Given the description of an element on the screen output the (x, y) to click on. 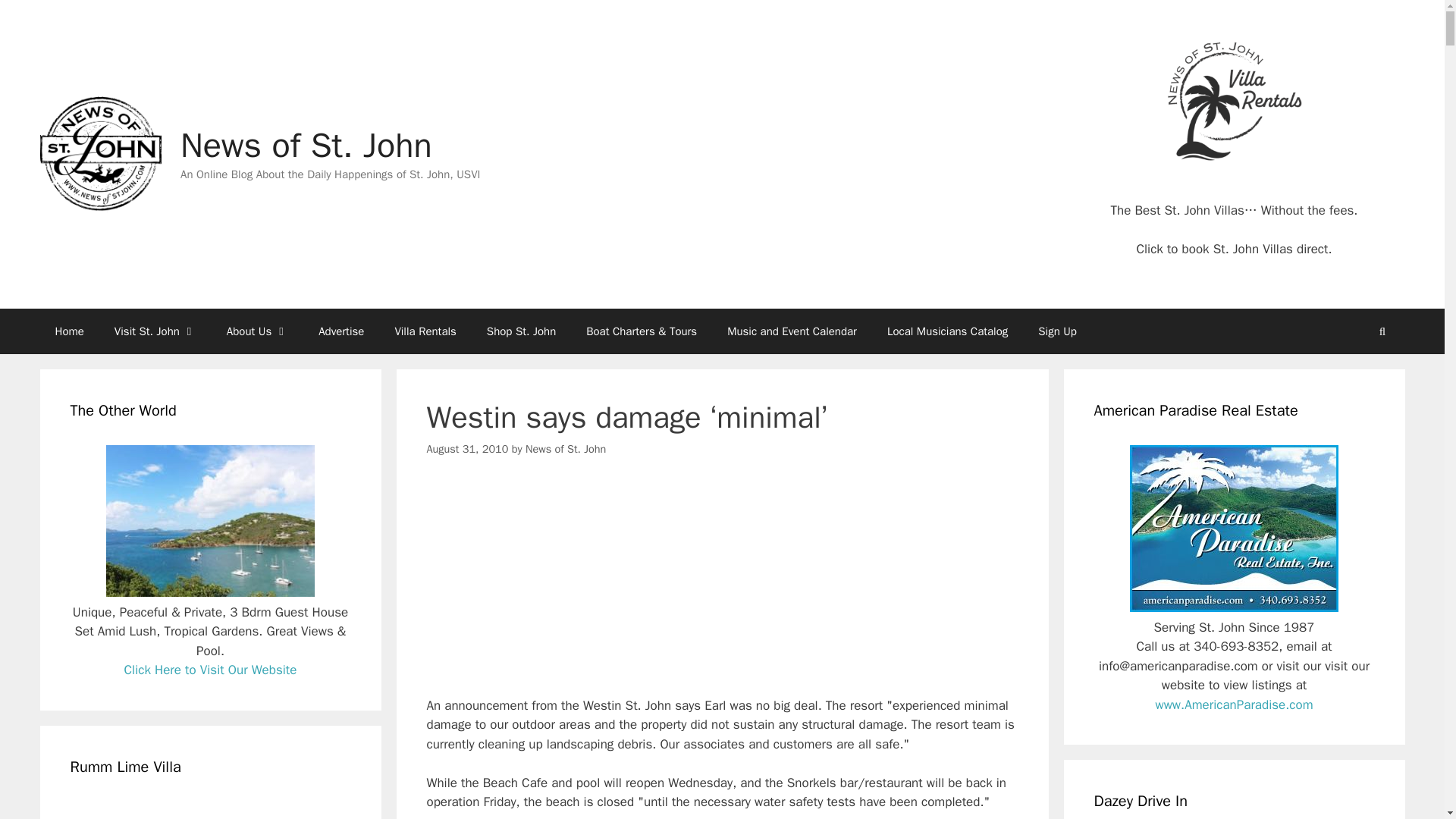
1:17 pm (467, 448)
About Us (256, 330)
Home (69, 330)
Shop St. John (520, 330)
Local Musicians Catalog (947, 330)
August 31, 2010 (467, 448)
News of St. John (306, 145)
Villa Rentals (424, 330)
Advertisement (721, 590)
View all posts by News of St. John (565, 448)
